Given the description of an element on the screen output the (x, y) to click on. 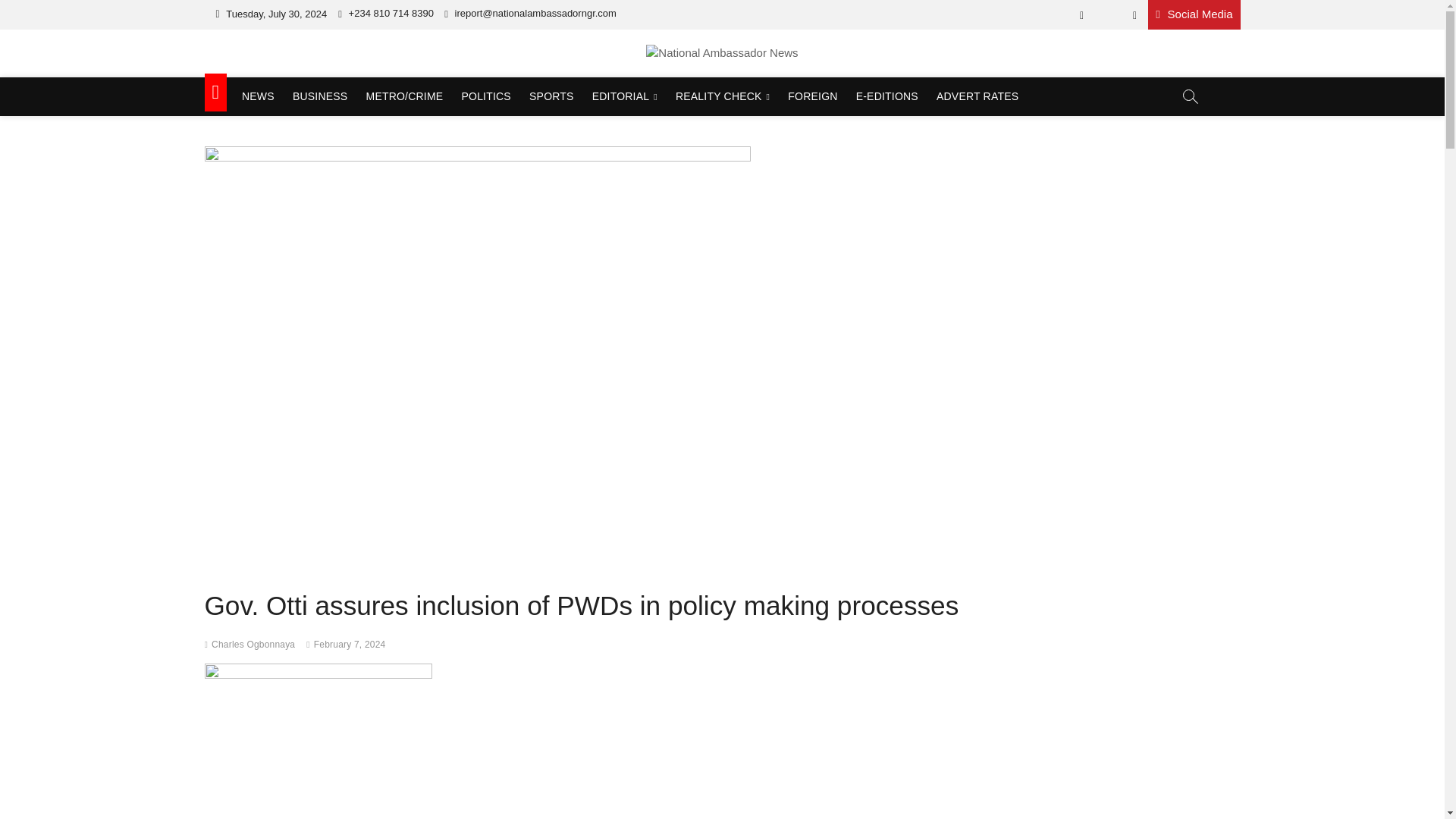
FOREIGN (812, 95)
facebook (1081, 15)
Social Media (1194, 14)
ADVERT RATES (977, 95)
twitter (1107, 15)
EDITORIAL (625, 96)
BUSINESS (320, 95)
instagram (1134, 15)
POLITICS (485, 95)
National Ambassador News (379, 78)
Mail Us (529, 12)
REALITY CHECK (722, 96)
Call Us (385, 12)
NEWS (258, 95)
